Given the description of an element on the screen output the (x, y) to click on. 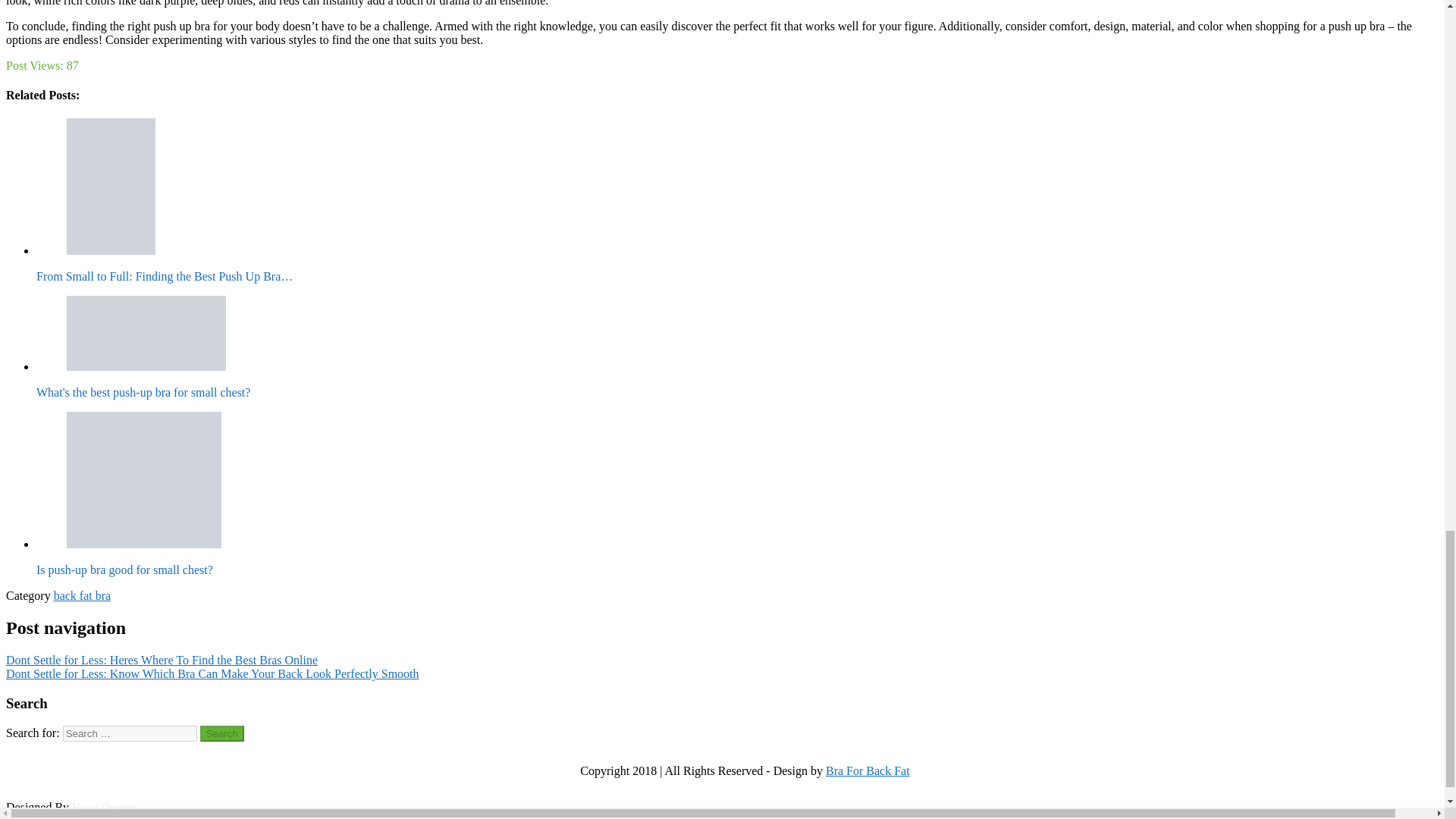
back fat bra (82, 594)
Search (222, 733)
What's the best push-up bra for small chest? (145, 333)
Search (222, 733)
Is push-up bra good for small chest? (143, 479)
